Given the description of an element on the screen output the (x, y) to click on. 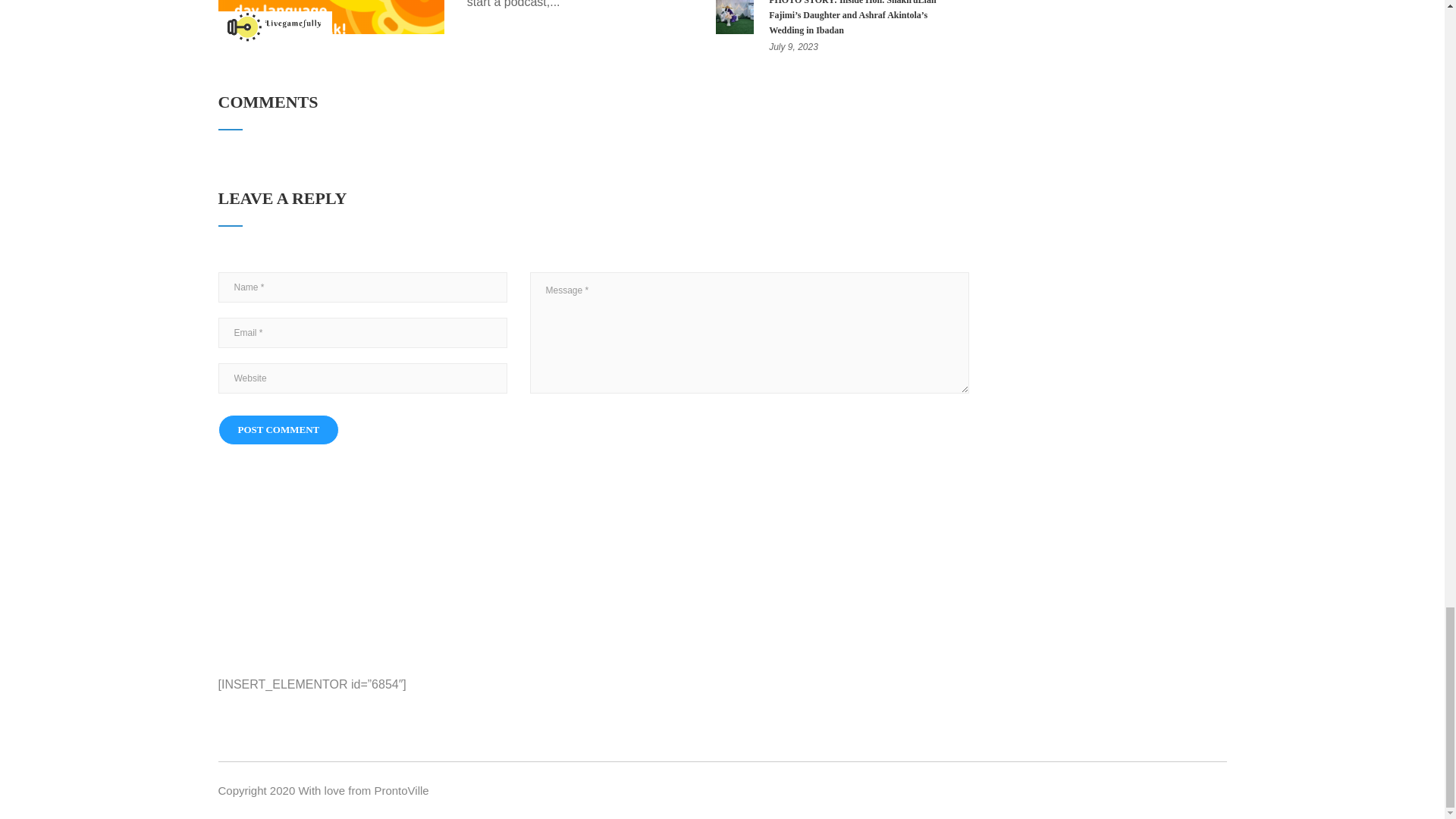
Post Comment (278, 429)
